Given the description of an element on the screen output the (x, y) to click on. 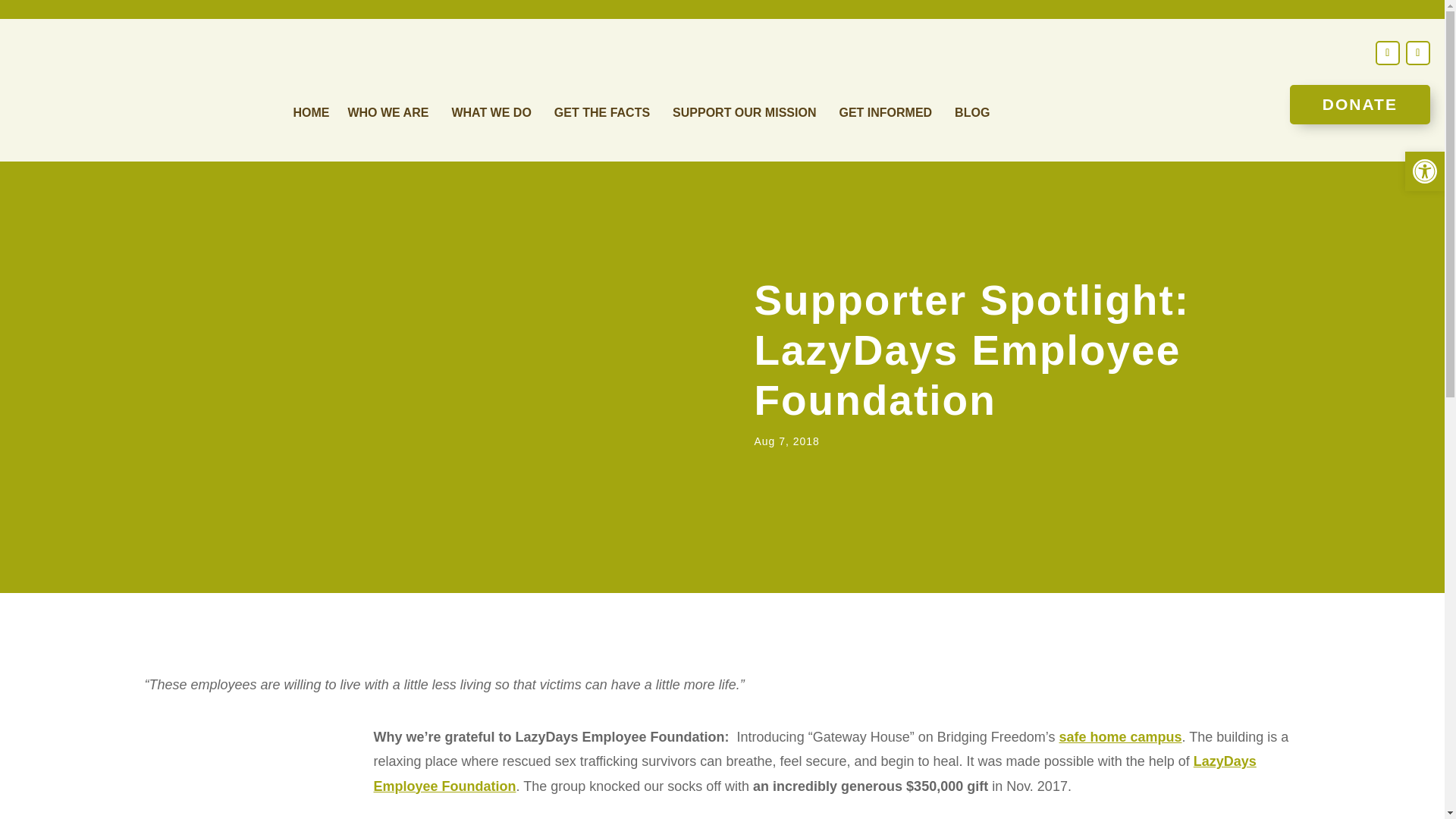
WHAT WE DO (493, 115)
BLOG (972, 115)
GET INFORMED (887, 115)
SUPPORT OUR MISSION (746, 115)
HOME (310, 115)
Follow on Instagram (1417, 52)
Accessibility Tools (1424, 170)
DONATE (1359, 104)
logo2 (127, 90)
Follow on Facebook (1387, 52)
GET THE FACTS (603, 115)
WHO WE ARE (389, 115)
